Given the description of an element on the screen output the (x, y) to click on. 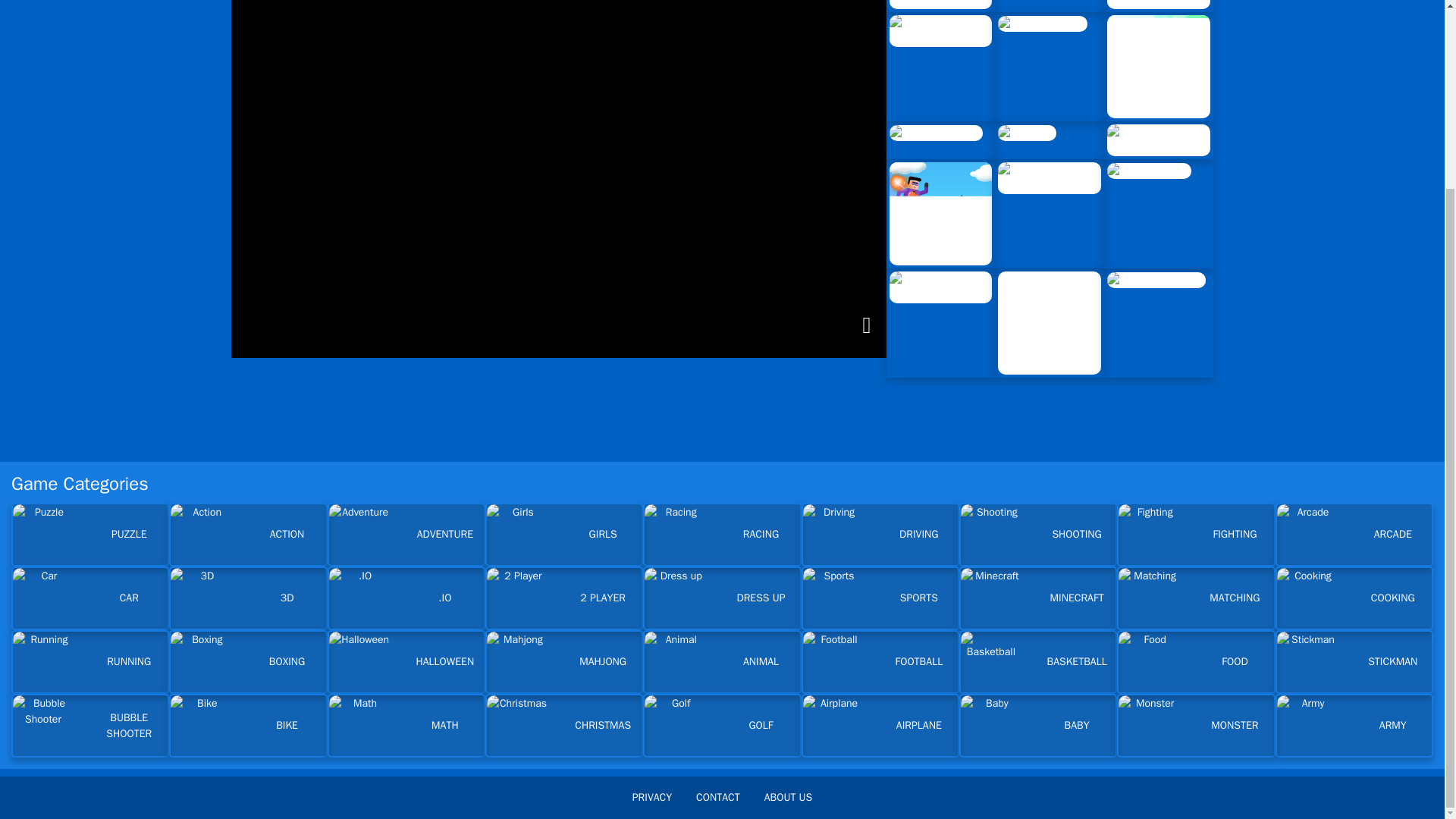
Farm Tiles Harvest (1155, 279)
Join Clash Color Button (1157, 140)
Action (247, 534)
Emoji Guru - Guess by Picture (939, 287)
Puzzle (90, 534)
100 Rooms Escape (1157, 4)
Hexa Tile Master (1157, 66)
Poppy Player Puzzle (939, 4)
Candy Color Sort Puzzle (939, 30)
Puzzle (43, 534)
